Given the description of an element on the screen output the (x, y) to click on. 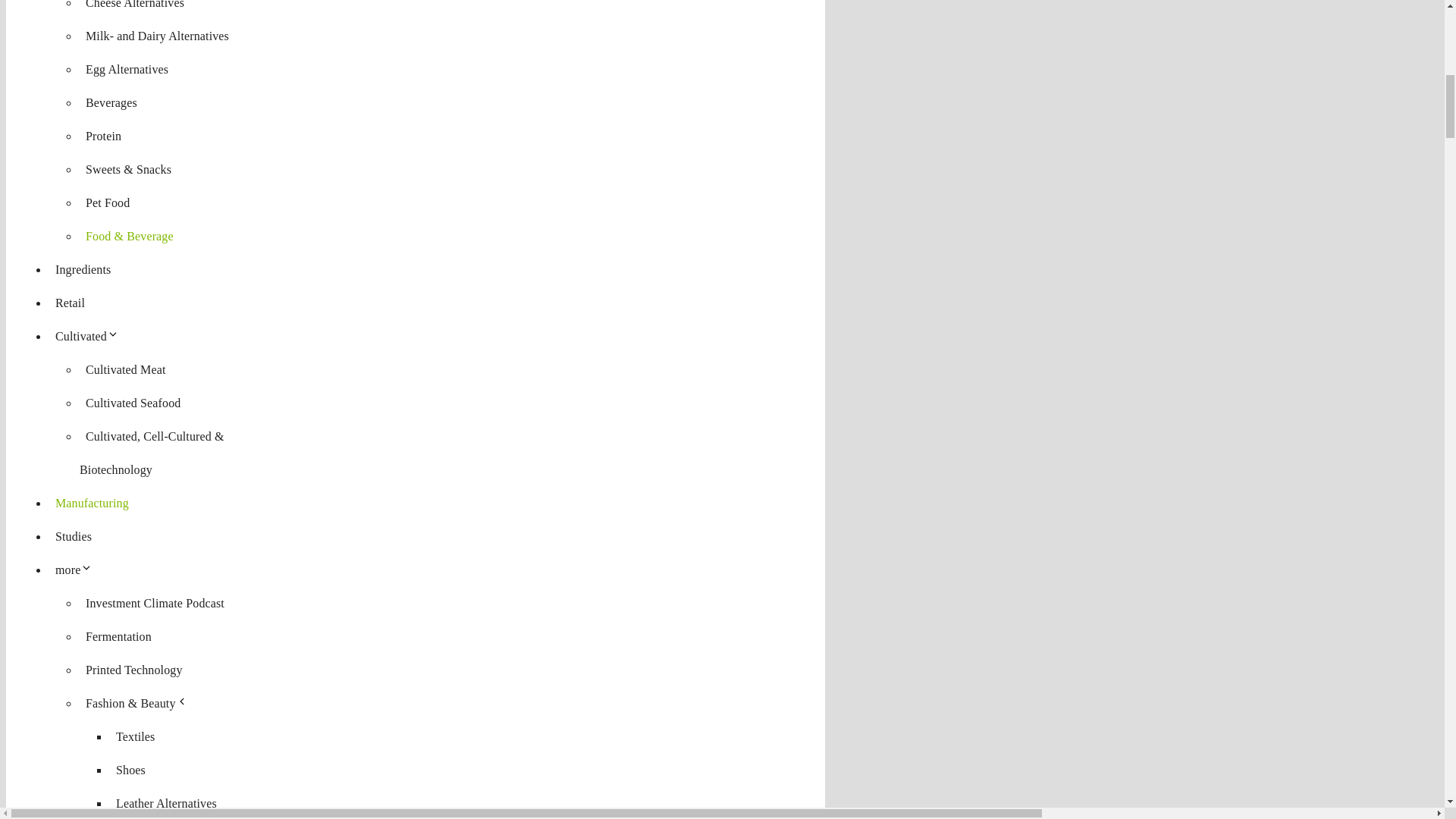
Beverages (111, 102)
Cultivated (90, 336)
Manufacturing (92, 502)
Cheese Alternatives (135, 7)
Studies (73, 535)
Cultivated Seafood (133, 402)
Investment Climate Podcast (155, 603)
Pet Food (107, 202)
Protein (104, 136)
Printed Technology (134, 669)
